Given the description of an element on the screen output the (x, y) to click on. 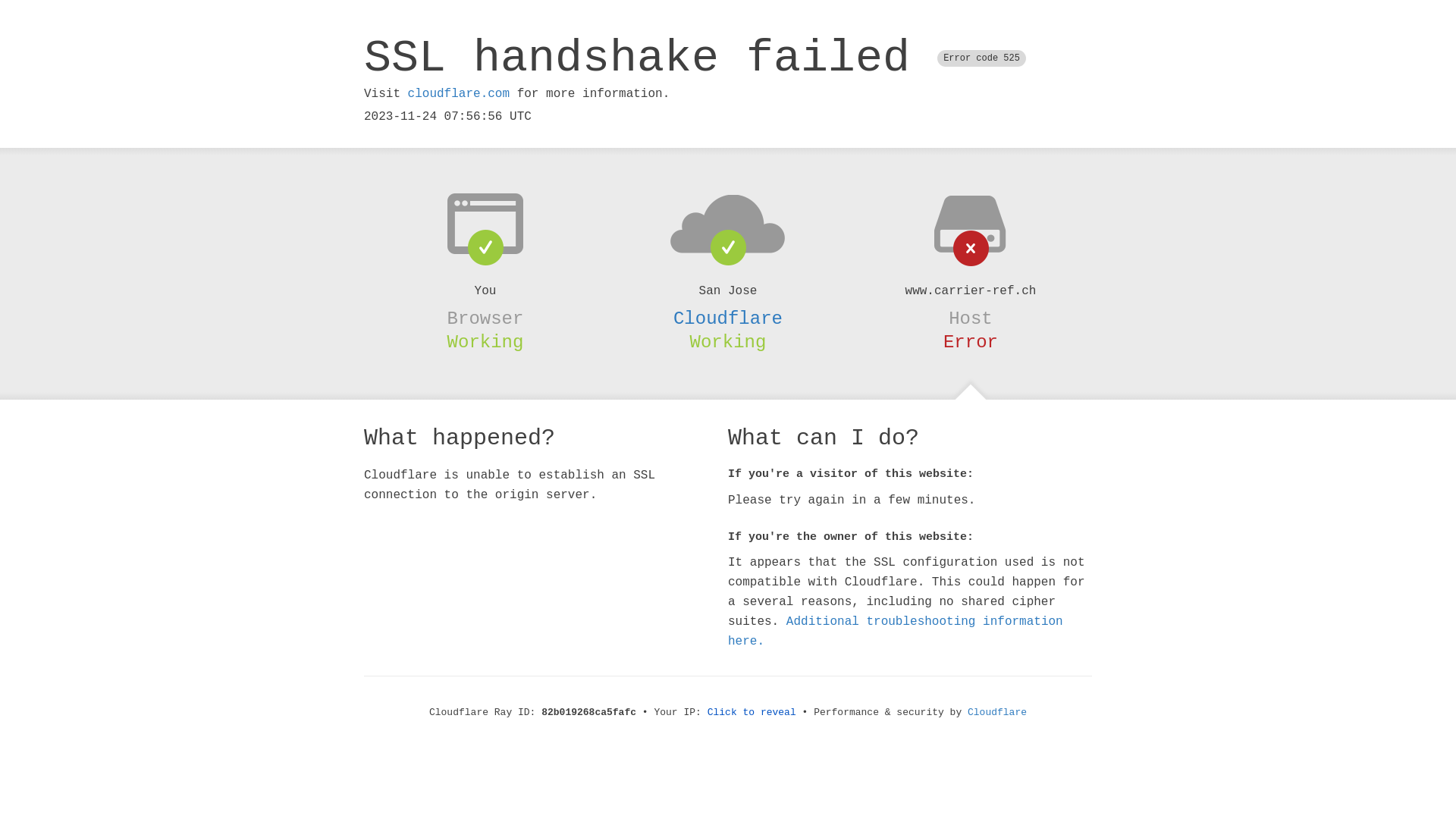
Cloudflare Element type: text (727, 318)
Click to reveal Element type: text (751, 712)
cloudflare.com Element type: text (458, 93)
Cloudflare Element type: text (996, 712)
Additional troubleshooting information here. Element type: text (895, 631)
